Given the description of an element on the screen output the (x, y) to click on. 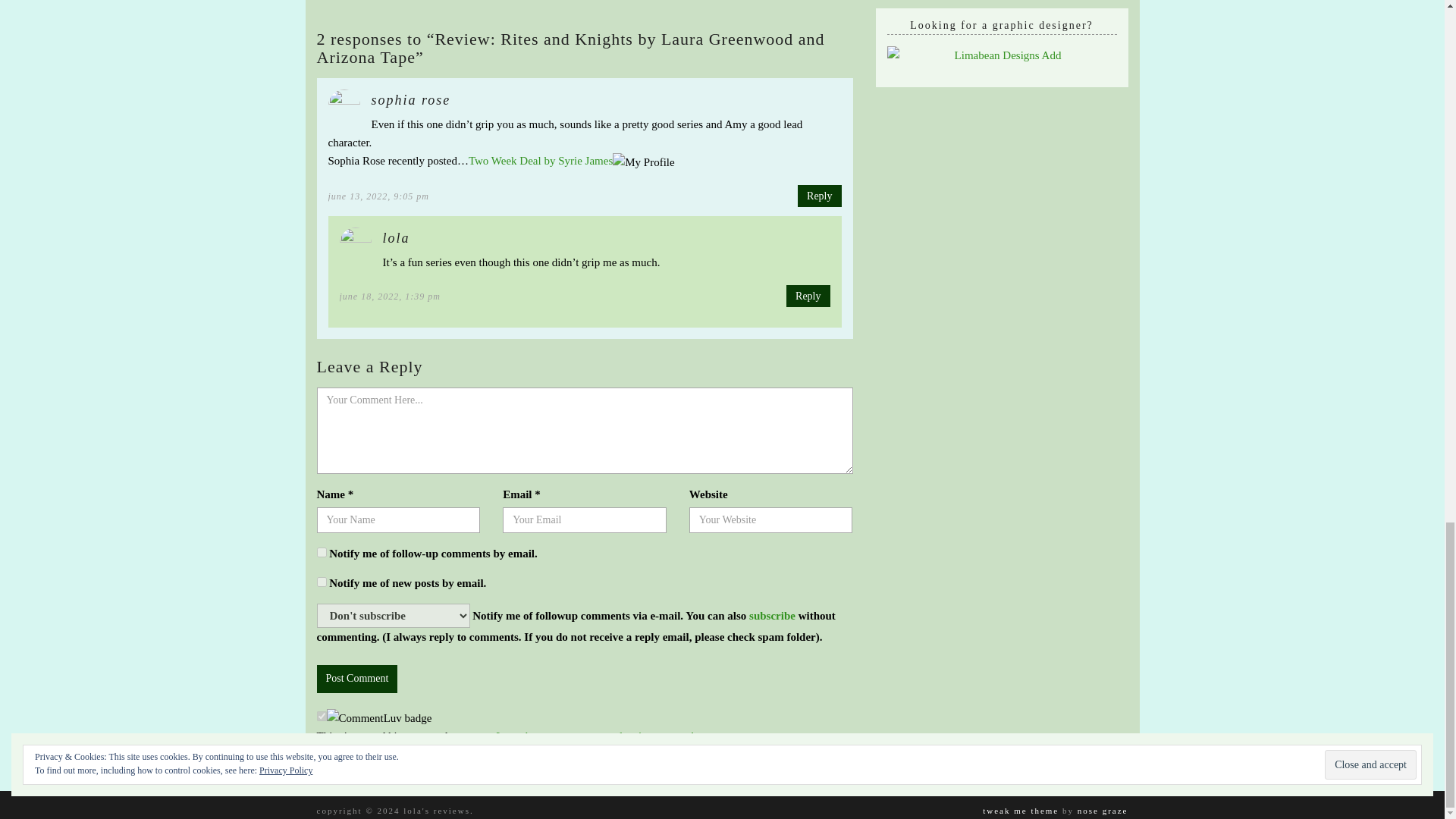
june 18, 2022, 1:39 pm (390, 296)
sophia rose (411, 99)
subscribe (321, 552)
subscribe (321, 582)
Reply (819, 196)
june 13, 2022, 9:05 pm (377, 195)
Post Comment (357, 678)
Post Comment (357, 678)
Two Week Deal by Syrie James (540, 160)
subscribe (771, 615)
